Given the description of an element on the screen output the (x, y) to click on. 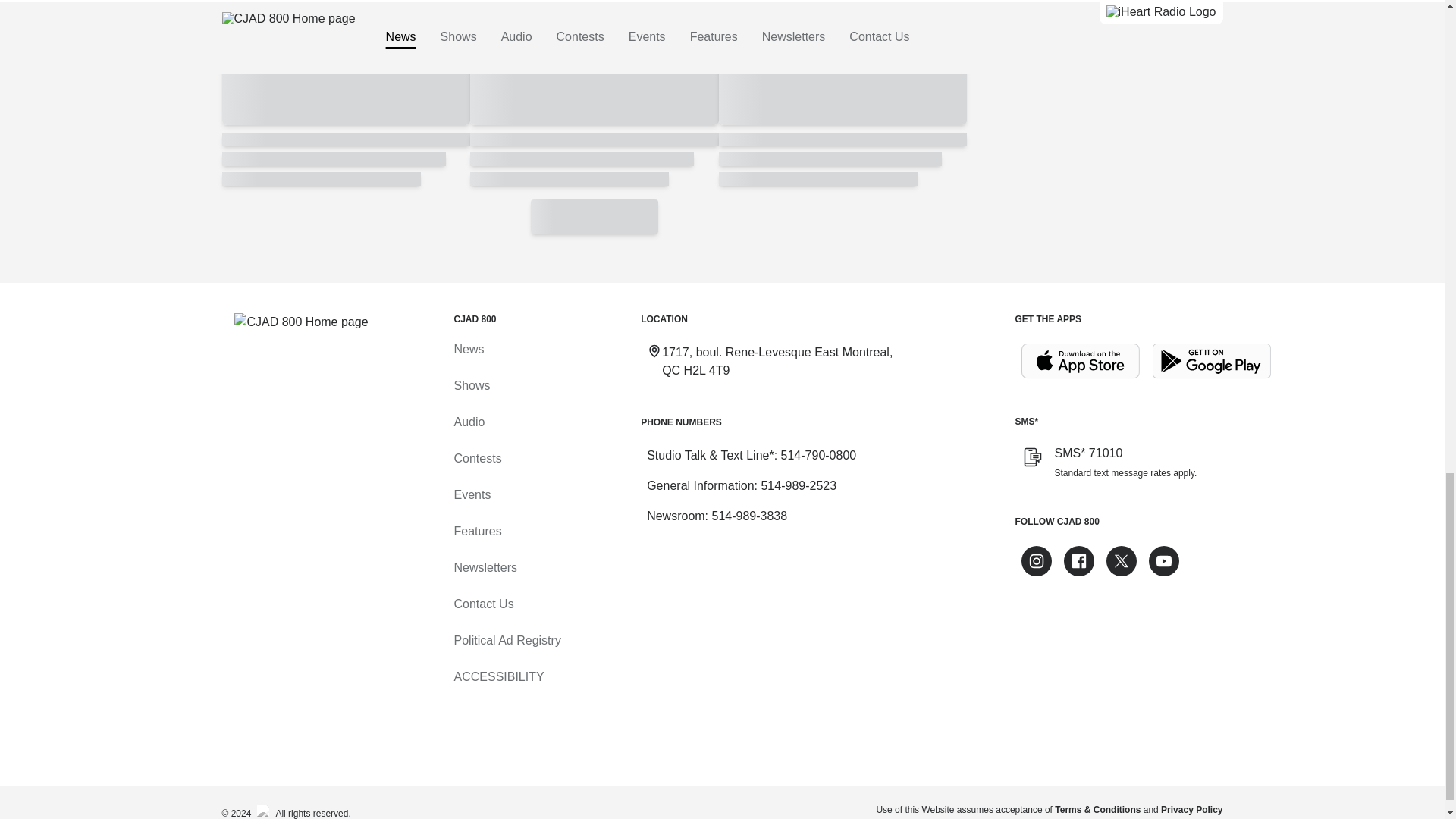
Shows (470, 385)
Features (476, 530)
Get it on Google Play (1212, 361)
Accessibility (497, 676)
514-989-3838 (749, 515)
ACCESSIBILITY (497, 676)
Newsletters (484, 567)
514-989-2523 (797, 485)
514-790-0800 (818, 454)
Privacy Policy (1191, 809)
Audio (468, 421)
Download on the App Store (1080, 361)
Contests (476, 458)
Events (471, 494)
News (467, 349)
